Given the description of an element on the screen output the (x, y) to click on. 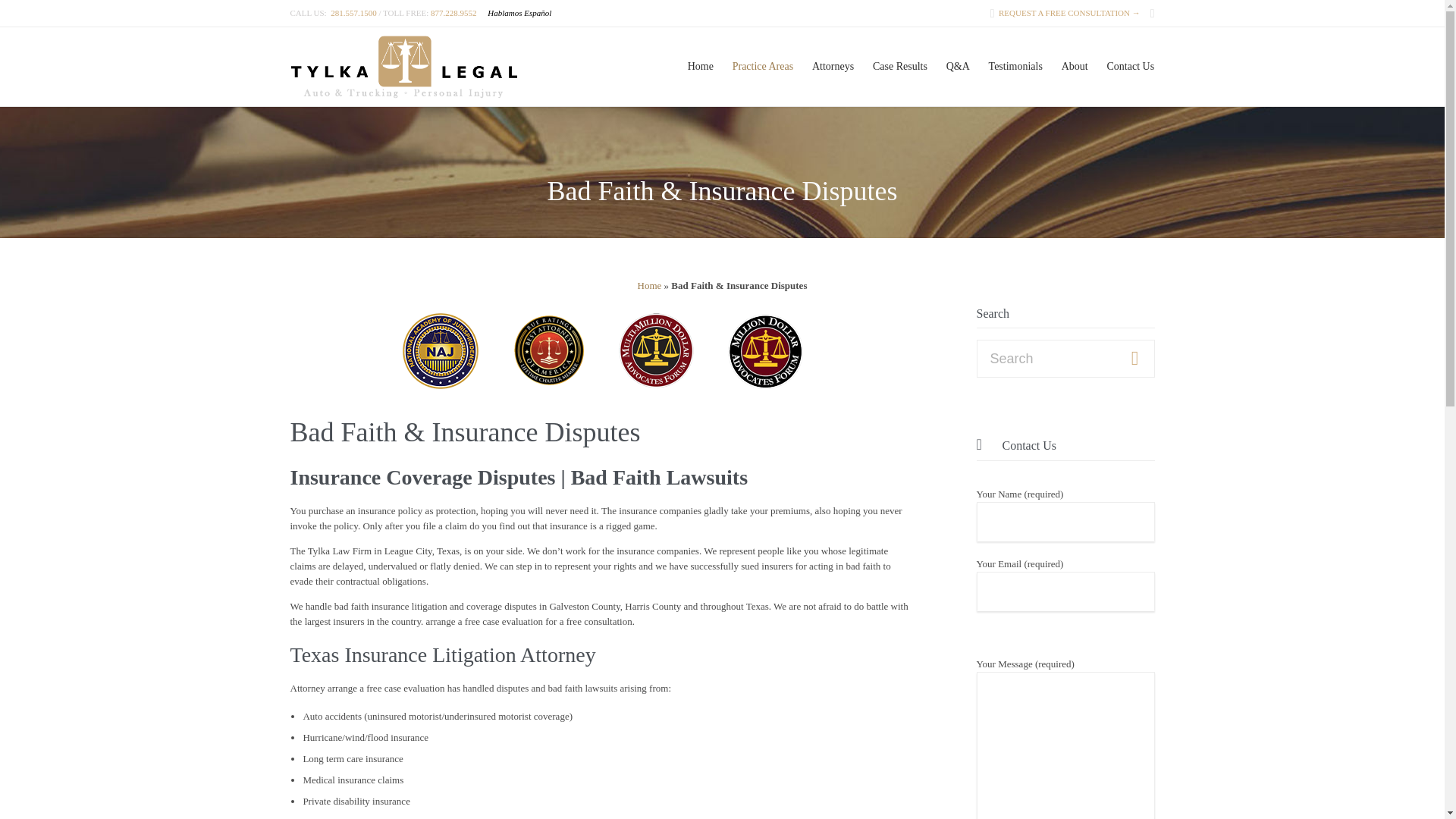
Search (1134, 359)
877.228.9552 (453, 12)
281.557.1500 (353, 12)
Practice Areas (762, 65)
Home (700, 65)
